Given the description of an element on the screen output the (x, y) to click on. 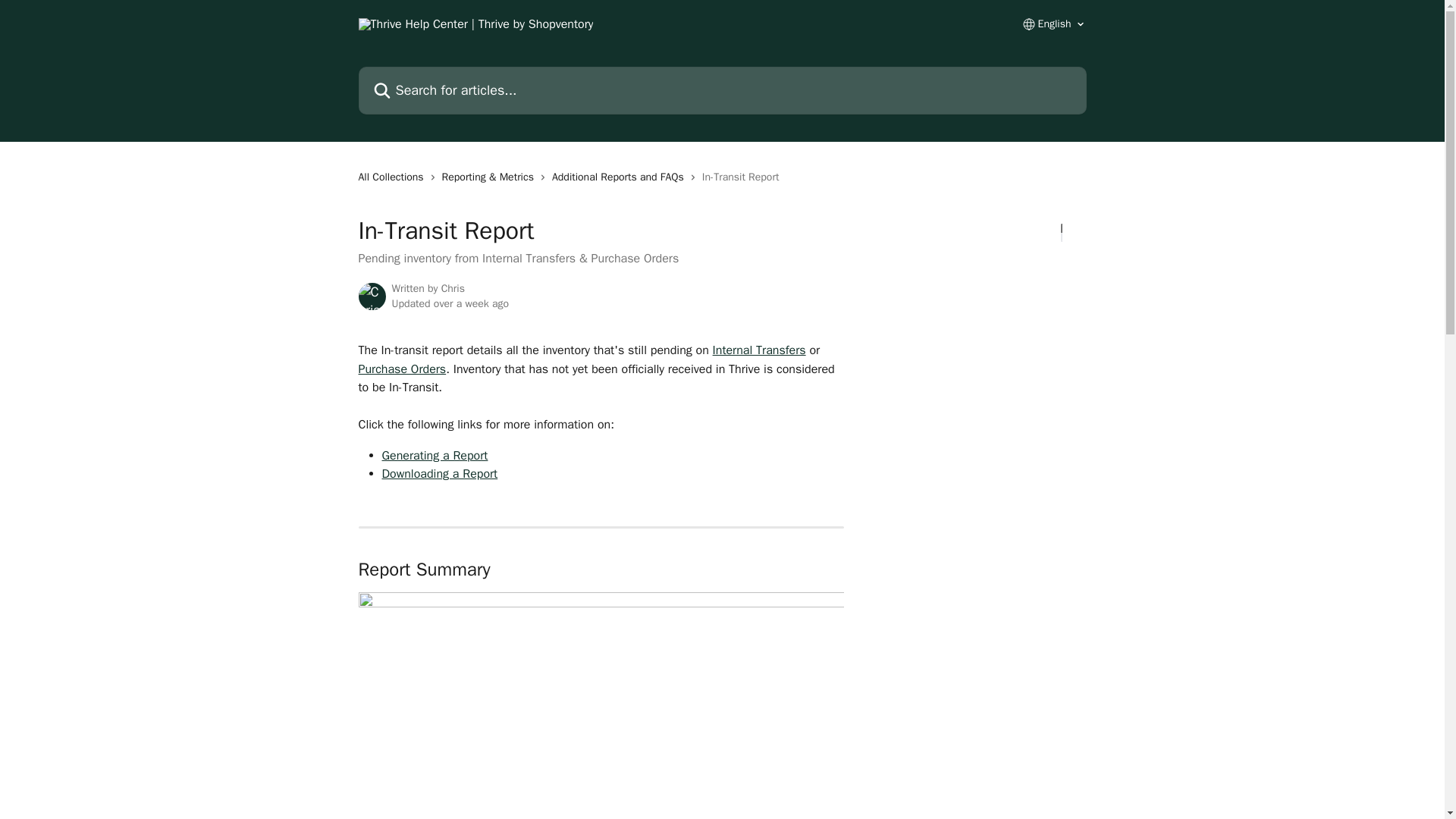
Generating a Report (434, 455)
Purchase Orders (401, 368)
All Collections (393, 176)
Additional Reports and FAQs (620, 176)
Internal Transfers (759, 350)
Downloading a Report (439, 473)
